Given the description of an element on the screen output the (x, y) to click on. 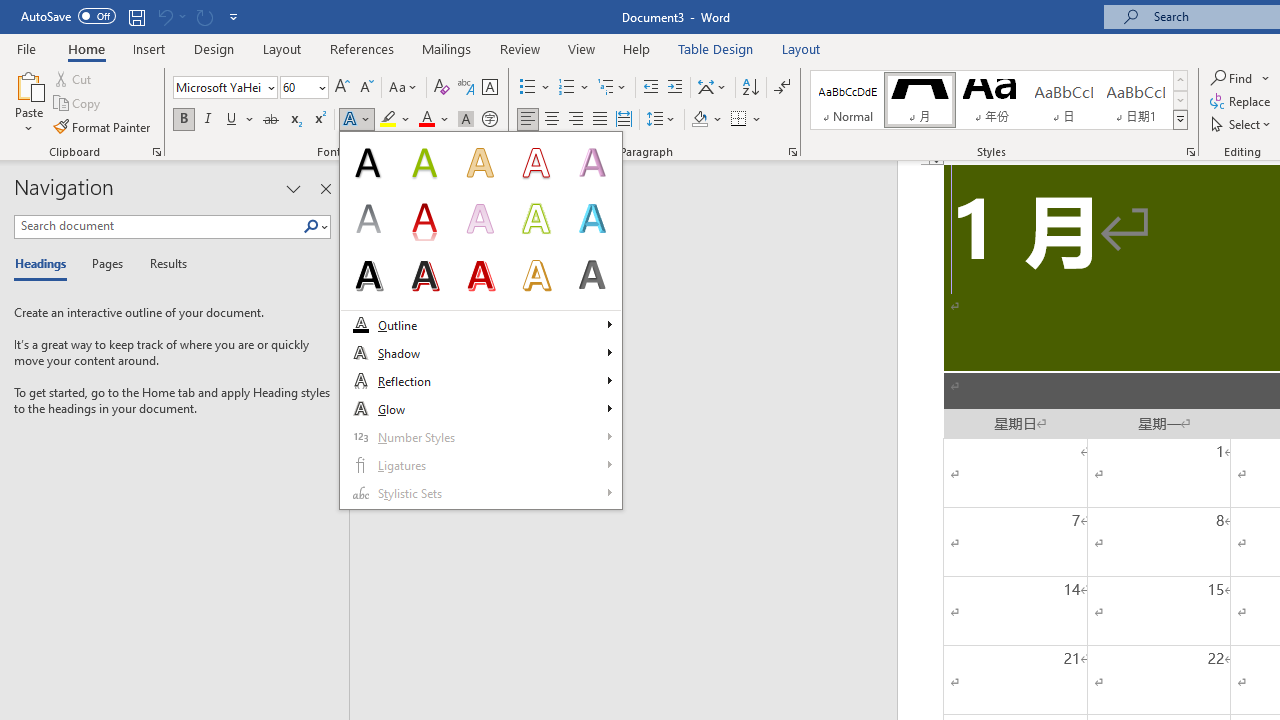
Can't Undo (170, 15)
